Given the description of an element on the screen output the (x, y) to click on. 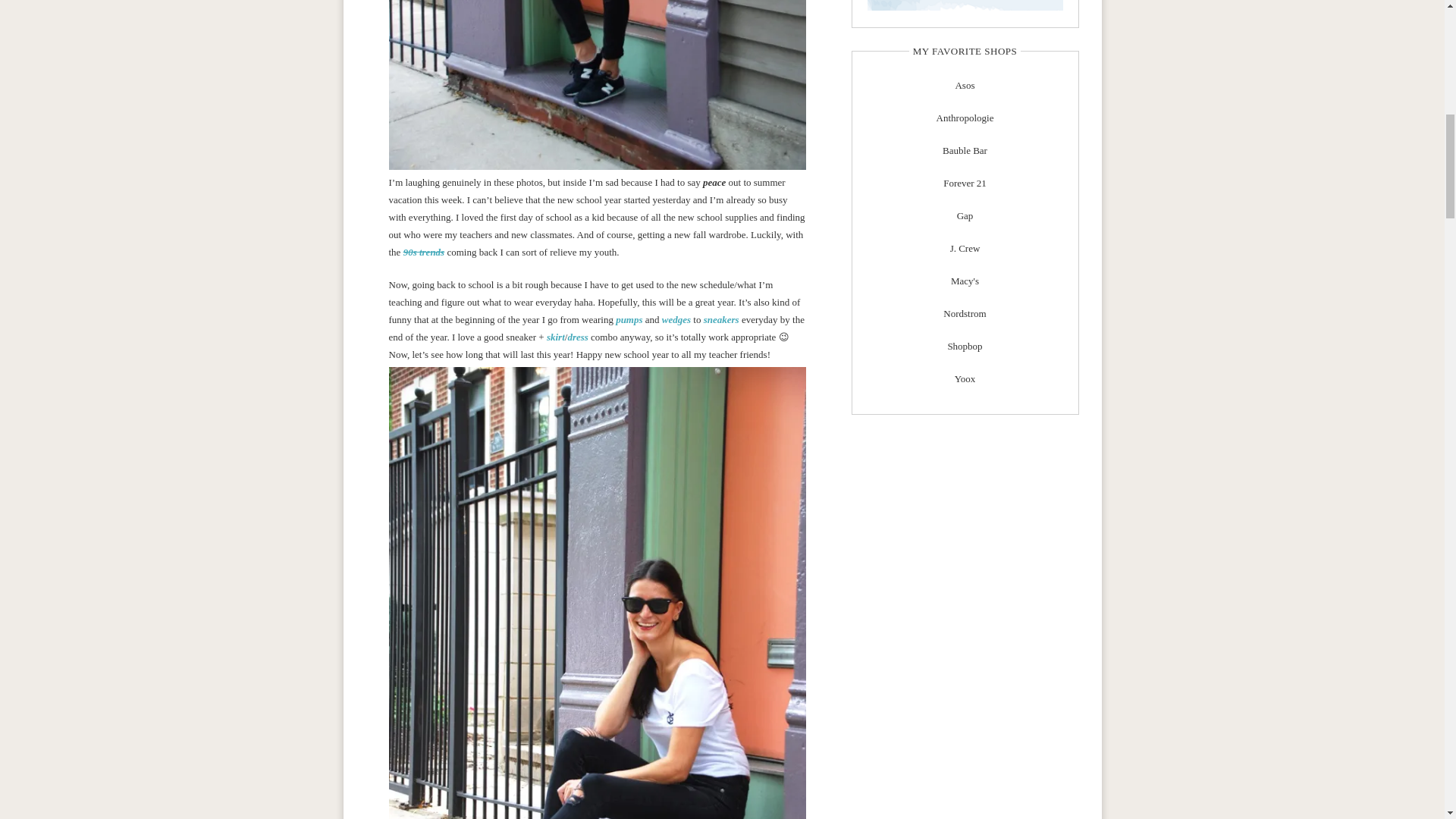
90s trends (424, 251)
skirt (555, 337)
sneakers (721, 319)
pumps (628, 319)
dress (577, 337)
wedges (676, 319)
